Given the description of an element on the screen output the (x, y) to click on. 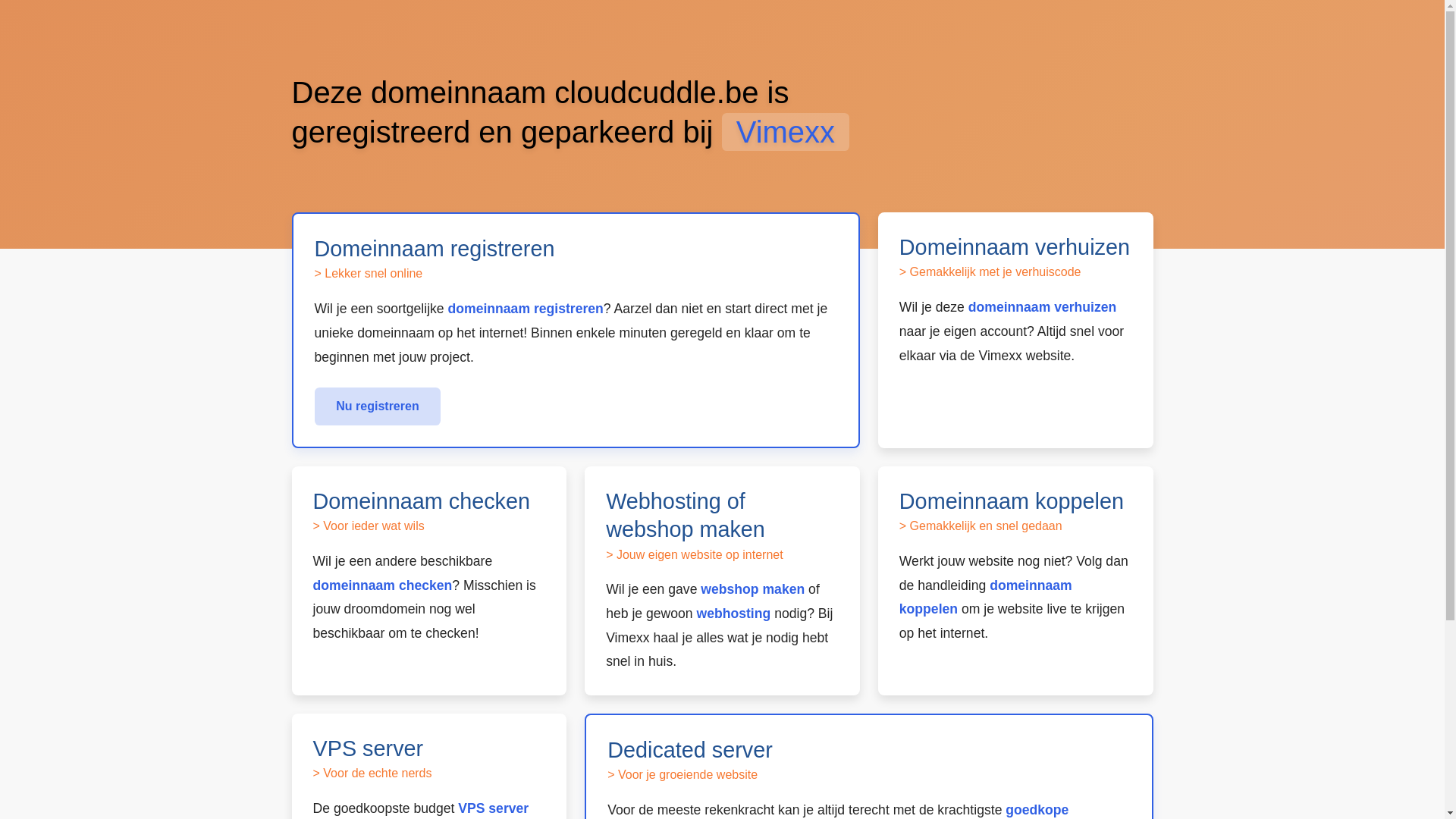
webhosting Element type: text (733, 613)
domeinnaam registreren Element type: text (525, 308)
VPS server Element type: text (493, 807)
Vimexx Element type: text (785, 131)
domeinnaam koppelen Element type: text (985, 597)
domeinnaam verhuizen Element type: text (1042, 306)
webshop maken Element type: text (752, 588)
Nu registreren Element type: text (376, 406)
domeinnaam checken Element type: text (381, 585)
